Given the description of an element on the screen output the (x, y) to click on. 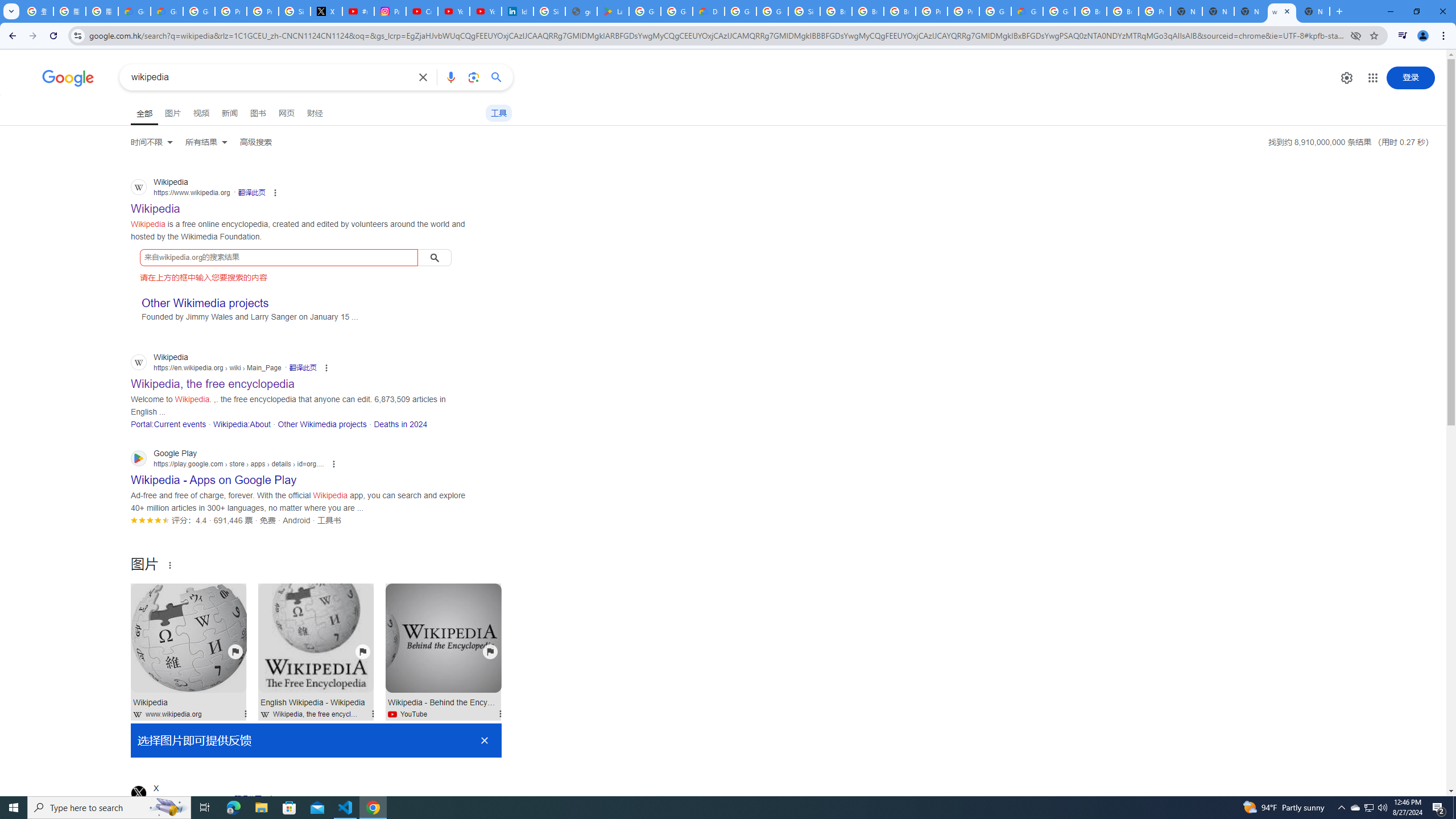
Deaths in 2024 (401, 424)
Google Cloud Privacy Notice (166, 11)
